Given the description of an element on the screen output the (x, y) to click on. 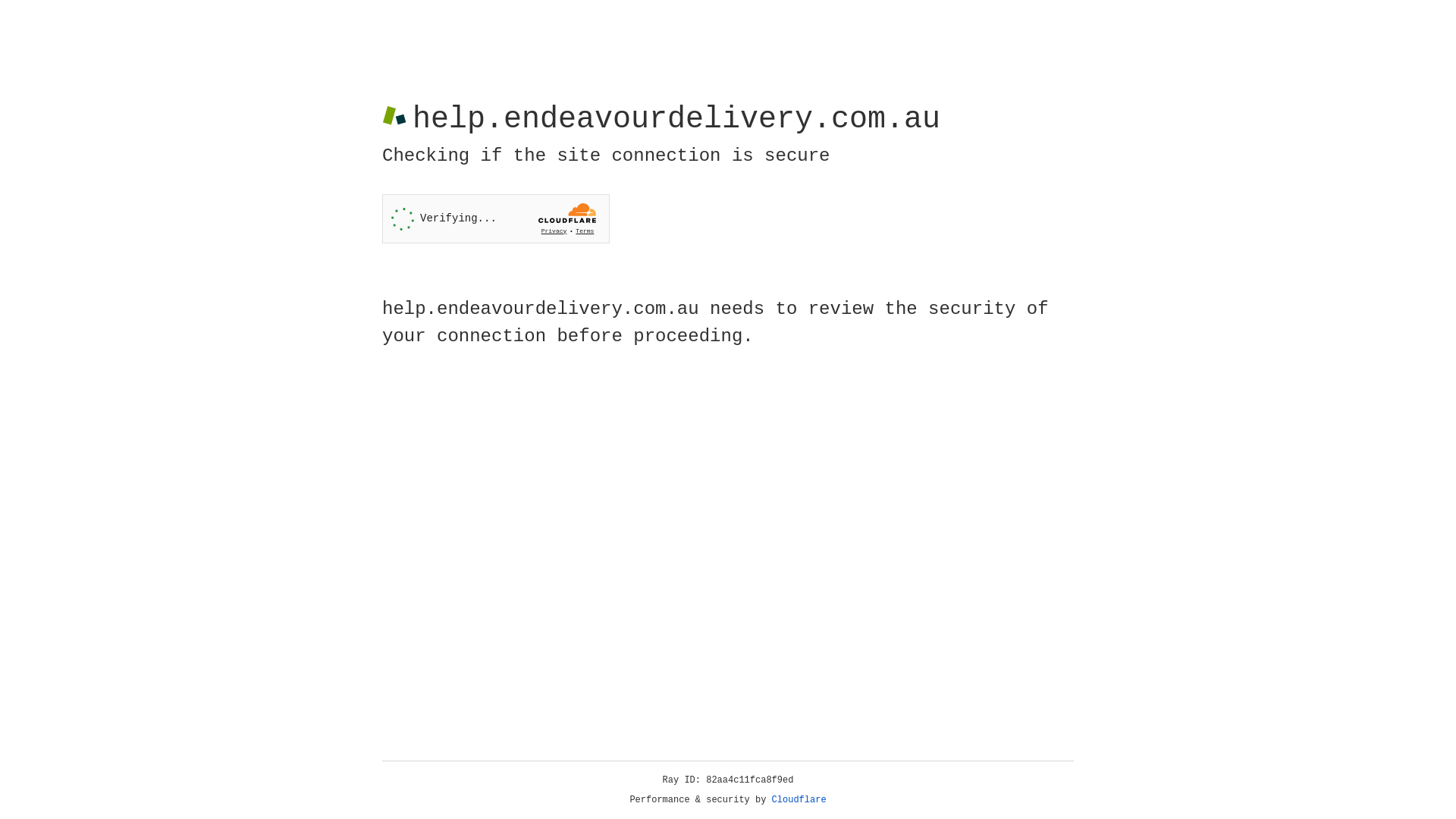
Widget containing a Cloudflare security challenge Element type: hover (495, 218)
Cloudflare Element type: text (798, 799)
